Given the description of an element on the screen output the (x, y) to click on. 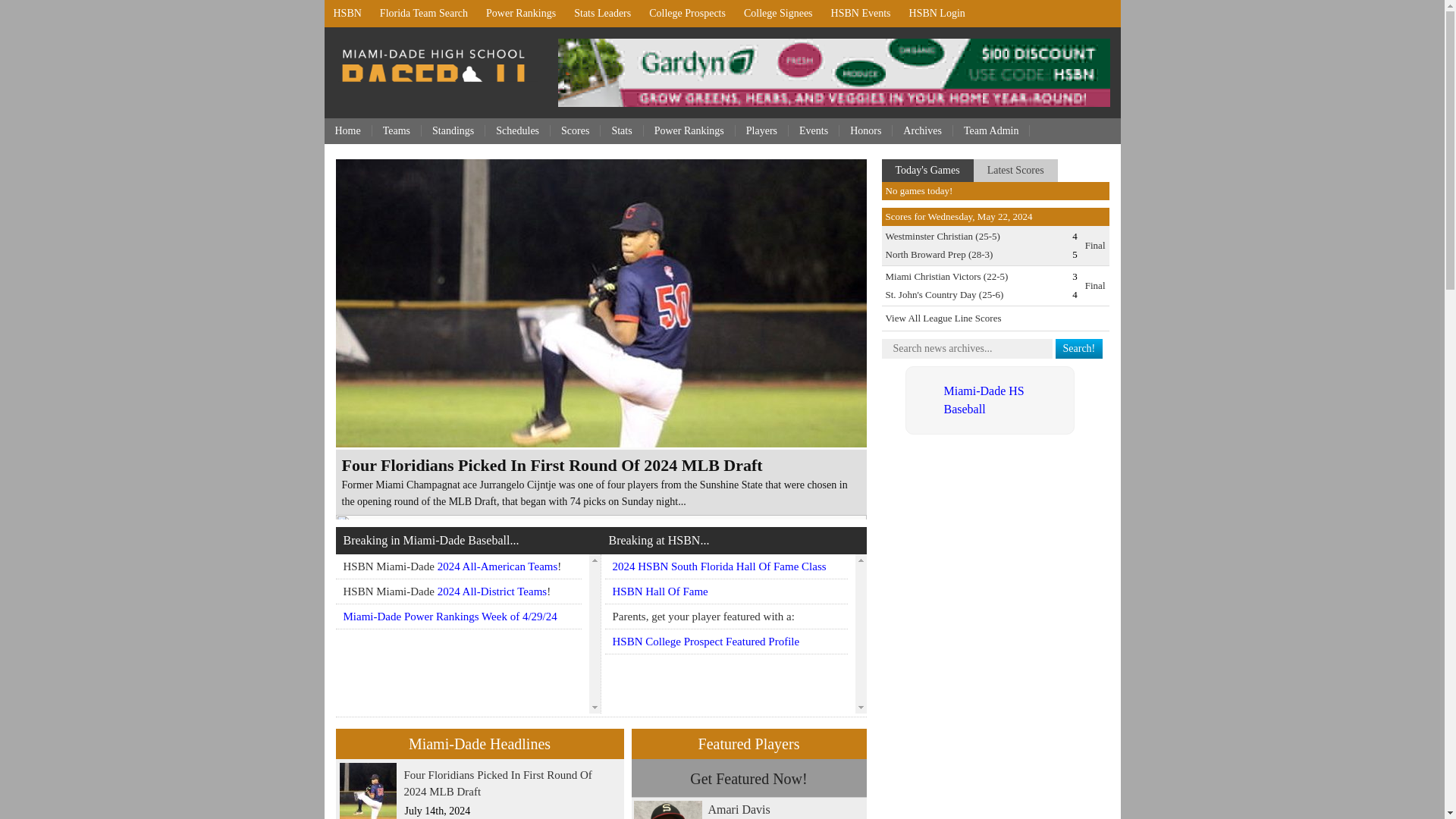
HSBN Clubhouse (936, 13)
College Signees (778, 13)
HSBN Stats Leaders (602, 13)
Power Rankings (520, 13)
HSBN Login (936, 13)
Home (348, 130)
College Prospects (687, 13)
HSBN Events (860, 13)
High School Baseball Network (347, 13)
Search! (1079, 348)
